Given the description of an element on the screen output the (x, y) to click on. 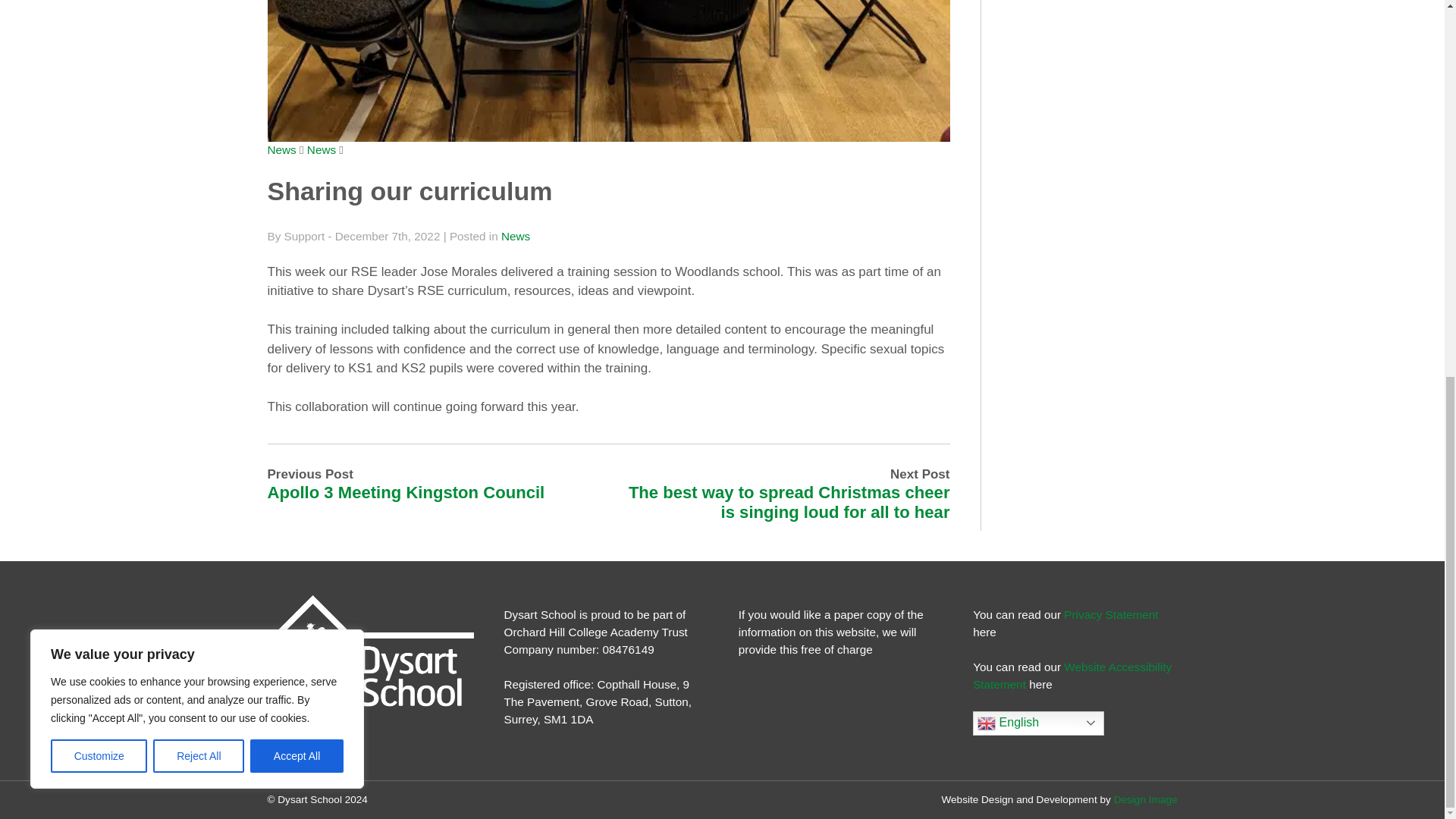
Reject All (198, 60)
Customize (98, 60)
Accept All (296, 60)
